Given the description of an element on the screen output the (x, y) to click on. 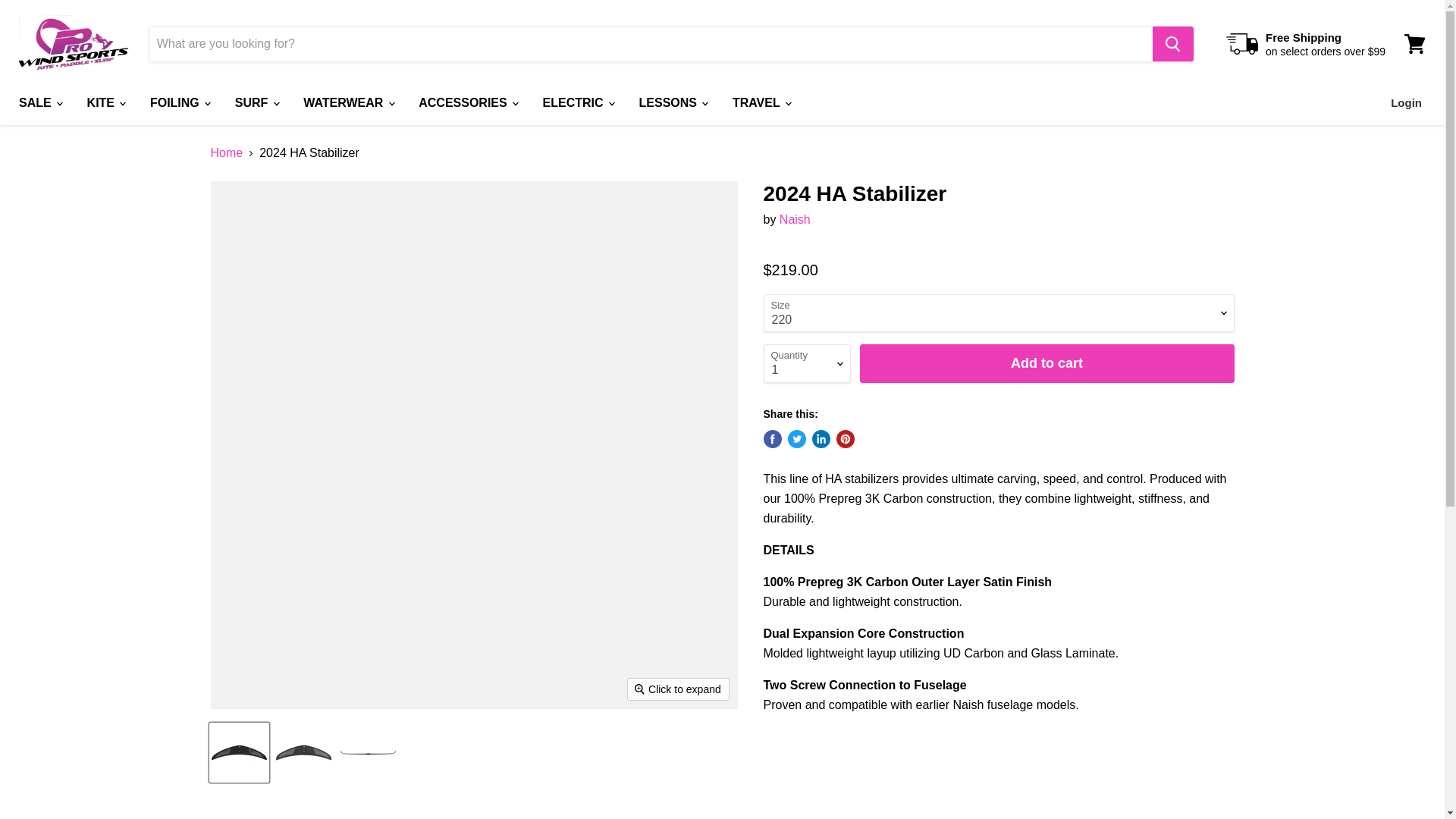
FOILING (178, 102)
KITE (105, 102)
SALE (39, 102)
ACCESSORIES (467, 102)
View cart (1414, 43)
Naish (794, 219)
SURF (256, 102)
WATERWEAR (348, 102)
